Given the description of an element on the screen output the (x, y) to click on. 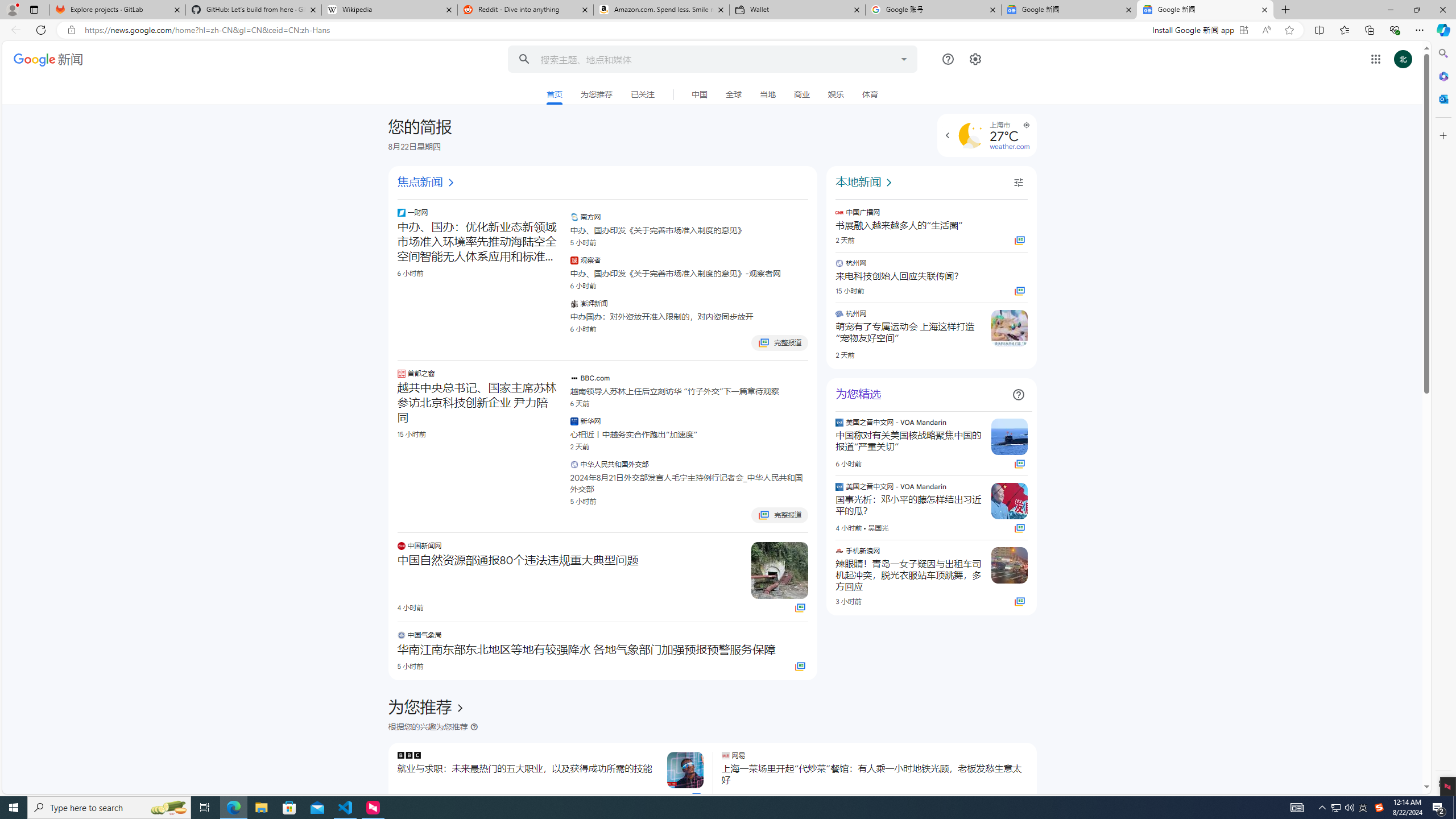
AutomationID: i40 (889, 182)
Class: zRMMZb NMm5M (1025, 125)
